Given the description of an element on the screen output the (x, y) to click on. 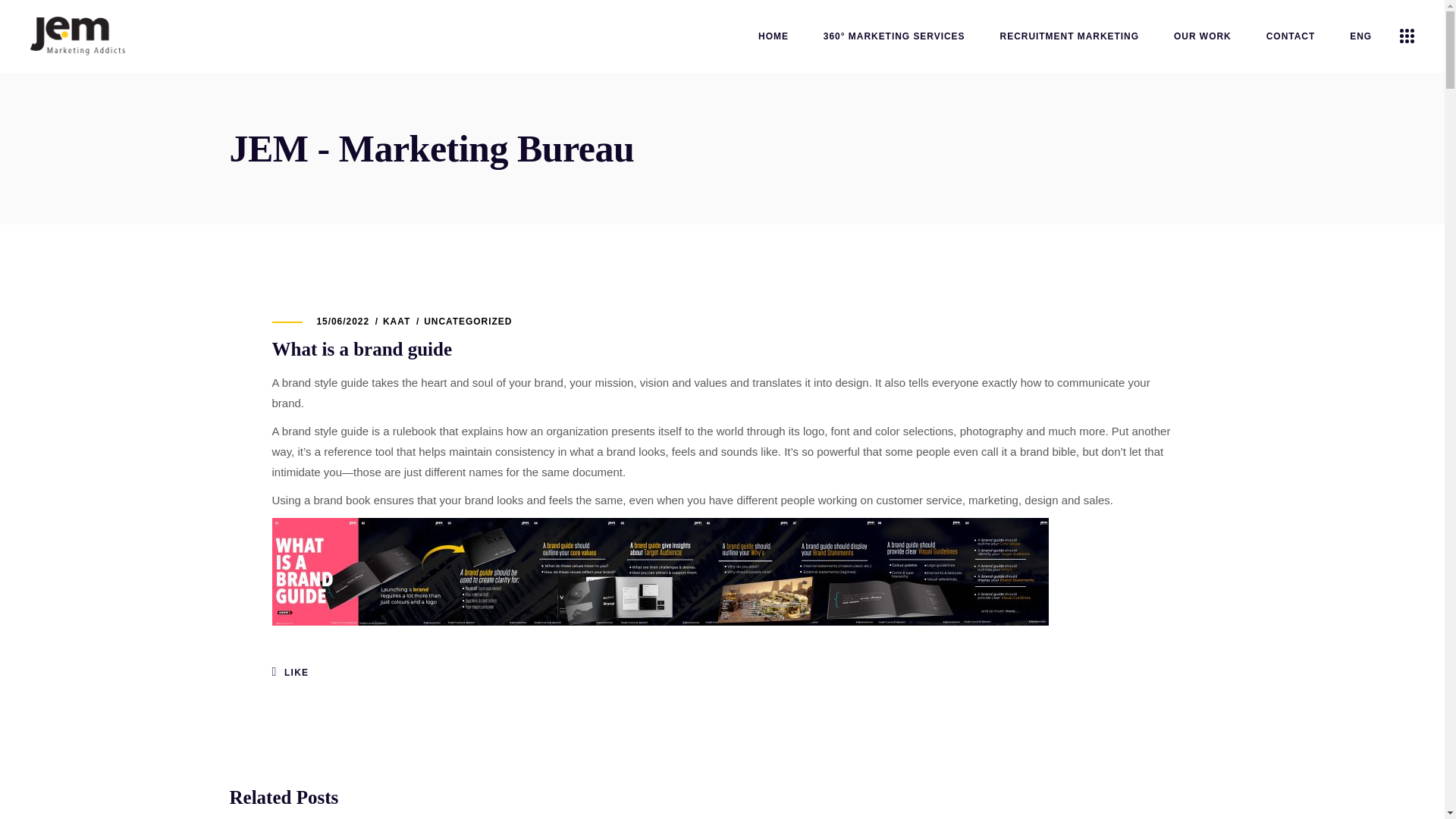
RECRUITMENT MARKETING (1069, 36)
Like this (289, 672)
OUR WORK (1202, 36)
ENG (1360, 36)
CONTACT (1291, 36)
HOME (773, 36)
